Given the description of an element on the screen output the (x, y) to click on. 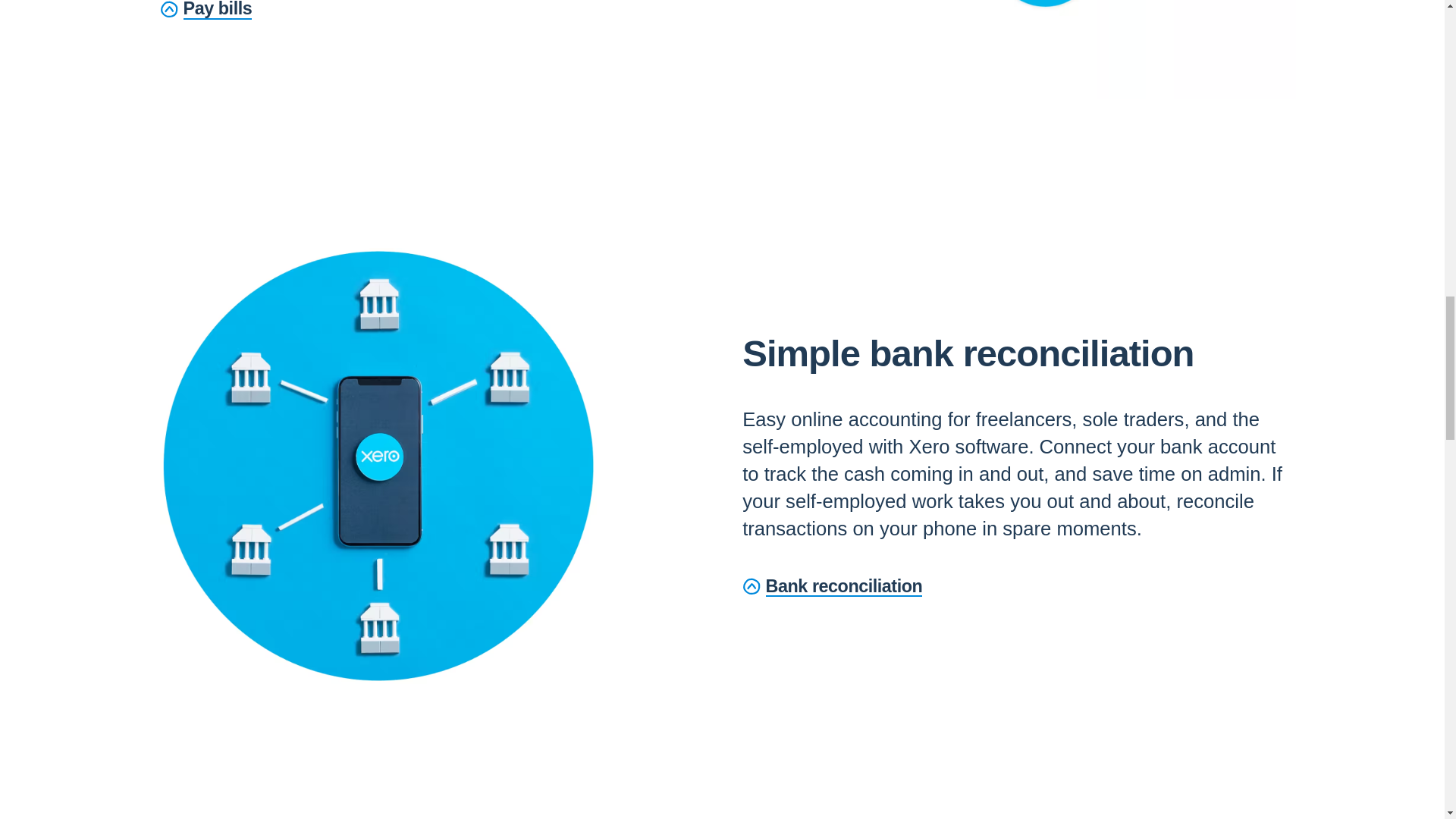
Pay bills (205, 11)
Bank reconciliation (831, 586)
